Given the description of an element on the screen output the (x, y) to click on. 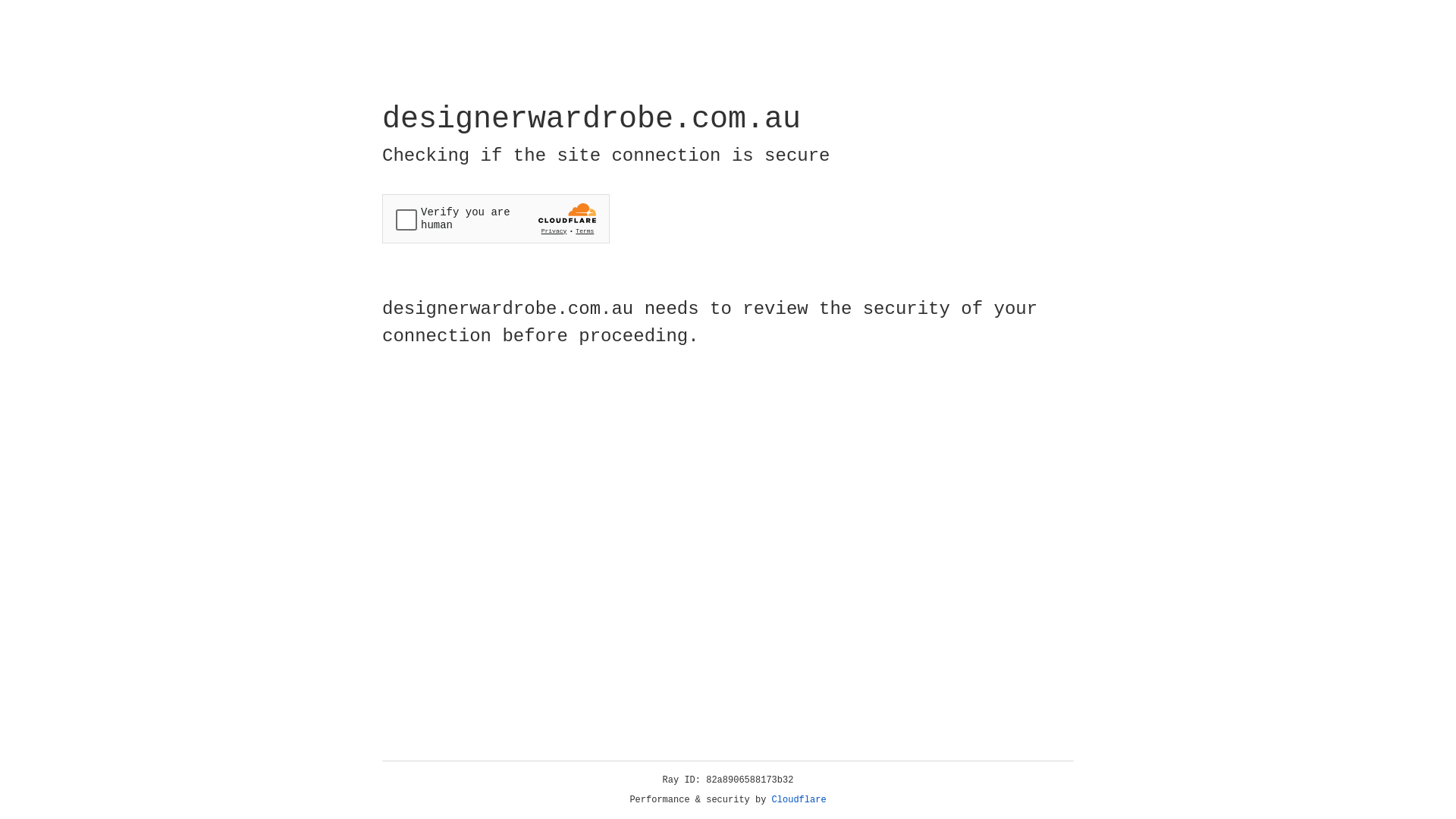
Widget containing a Cloudflare security challenge Element type: hover (495, 218)
Cloudflare Element type: text (798, 799)
